Given the description of an element on the screen output the (x, y) to click on. 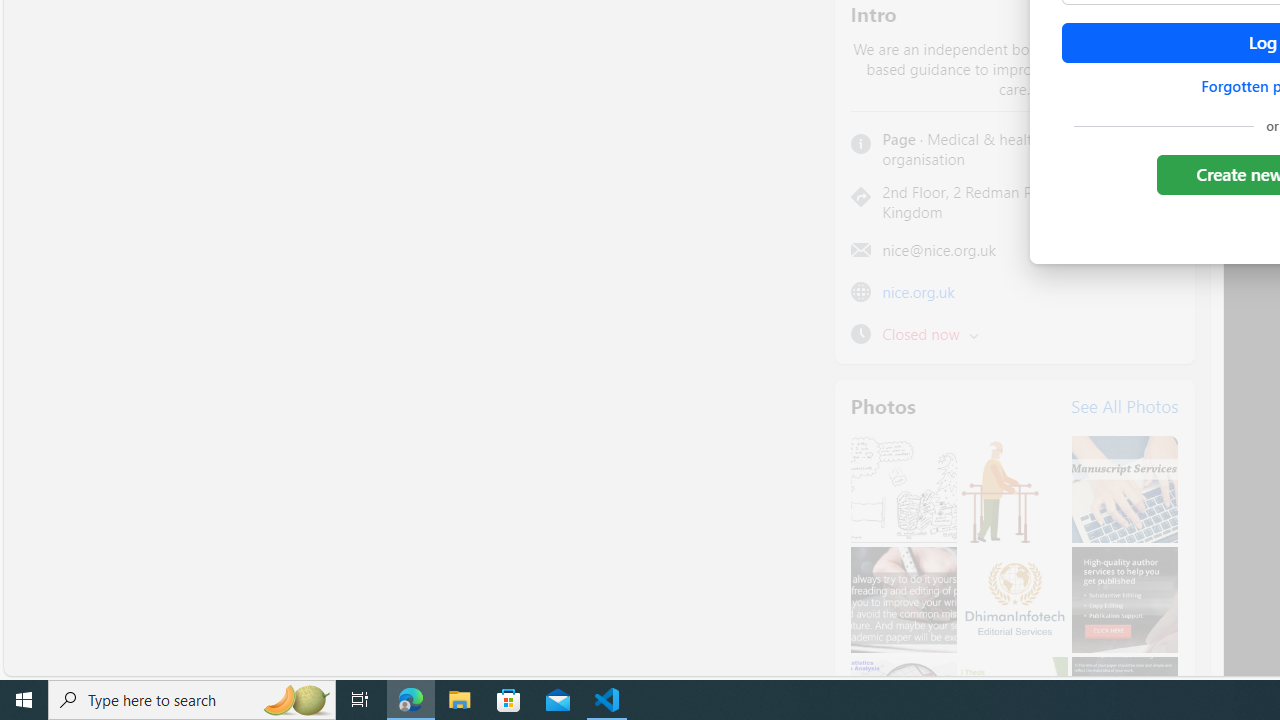
Search highlights icon opens search home window (295, 699)
Task View (359, 699)
Visual Studio Code - 1 running window (607, 699)
Type here to search (191, 699)
File Explorer (460, 699)
Start (24, 699)
Microsoft Store (509, 699)
Microsoft Edge - 1 running window (411, 699)
